Given the description of an element on the screen output the (x, y) to click on. 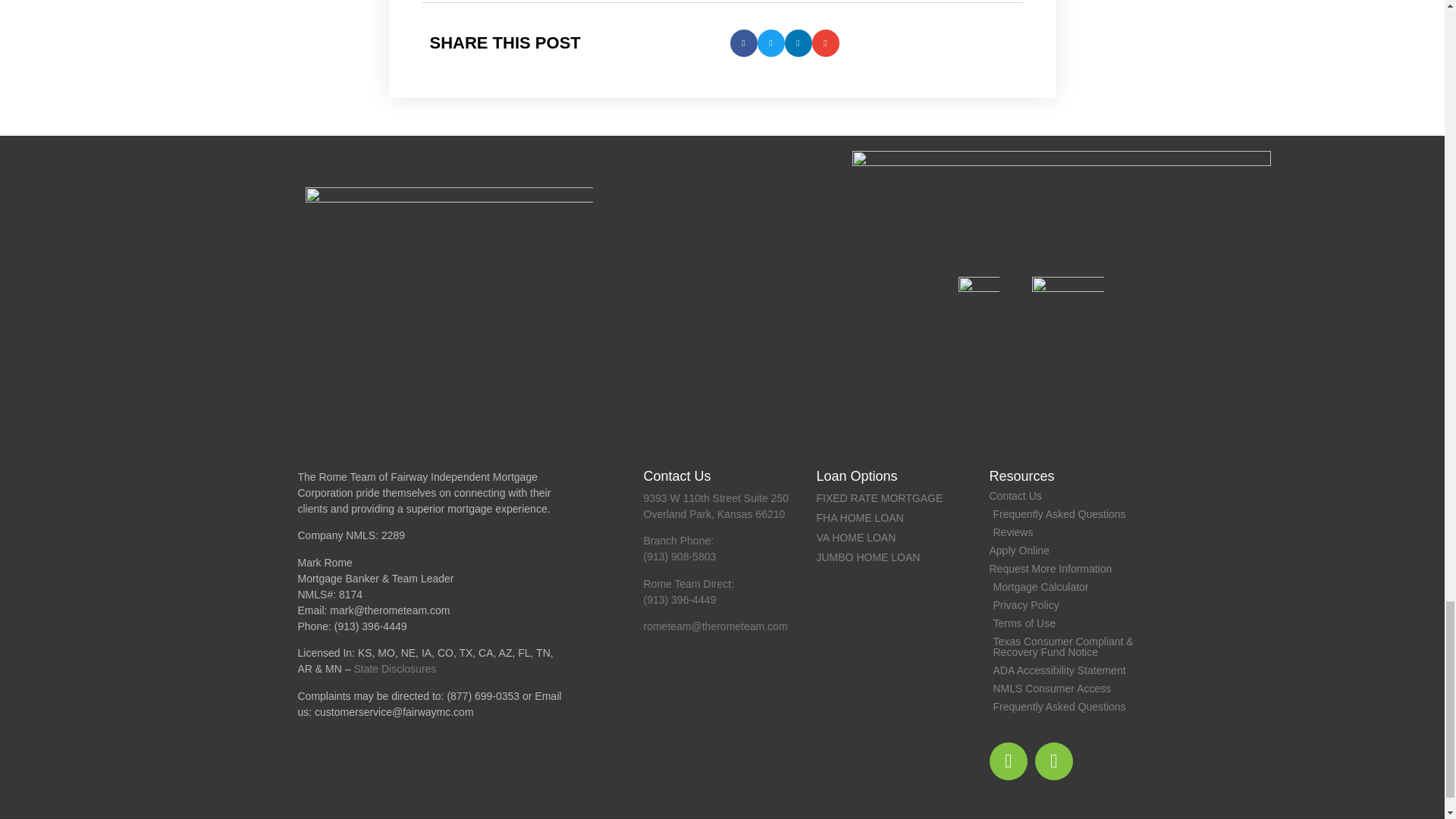
ShoreTel Web Dialer: 19133964449 (370, 625)
ShoreTel Web Dialer: 18776990353 (482, 695)
